Given the description of an element on the screen output the (x, y) to click on. 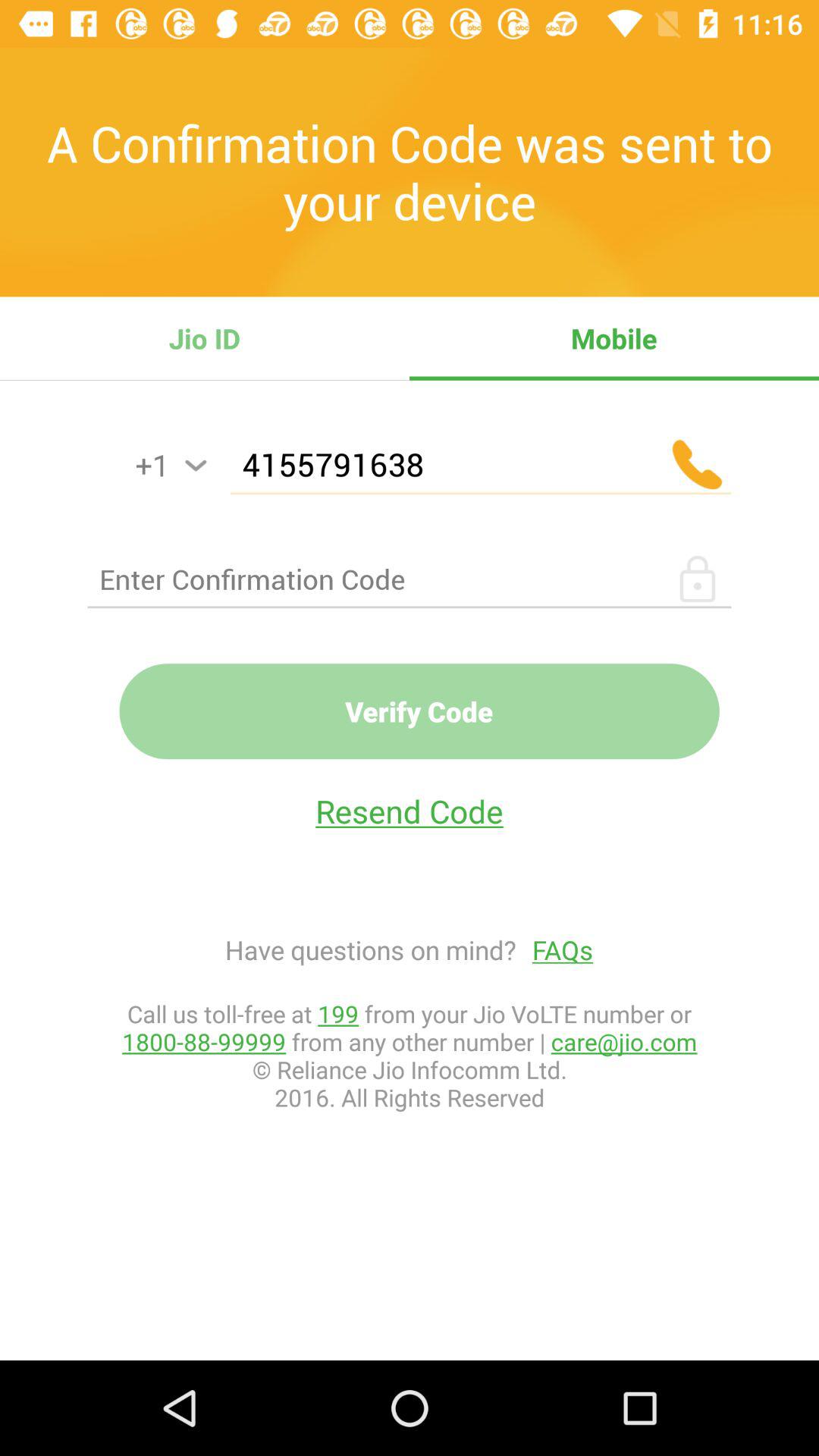
tap resend code (409, 810)
